Given the description of an element on the screen output the (x, y) to click on. 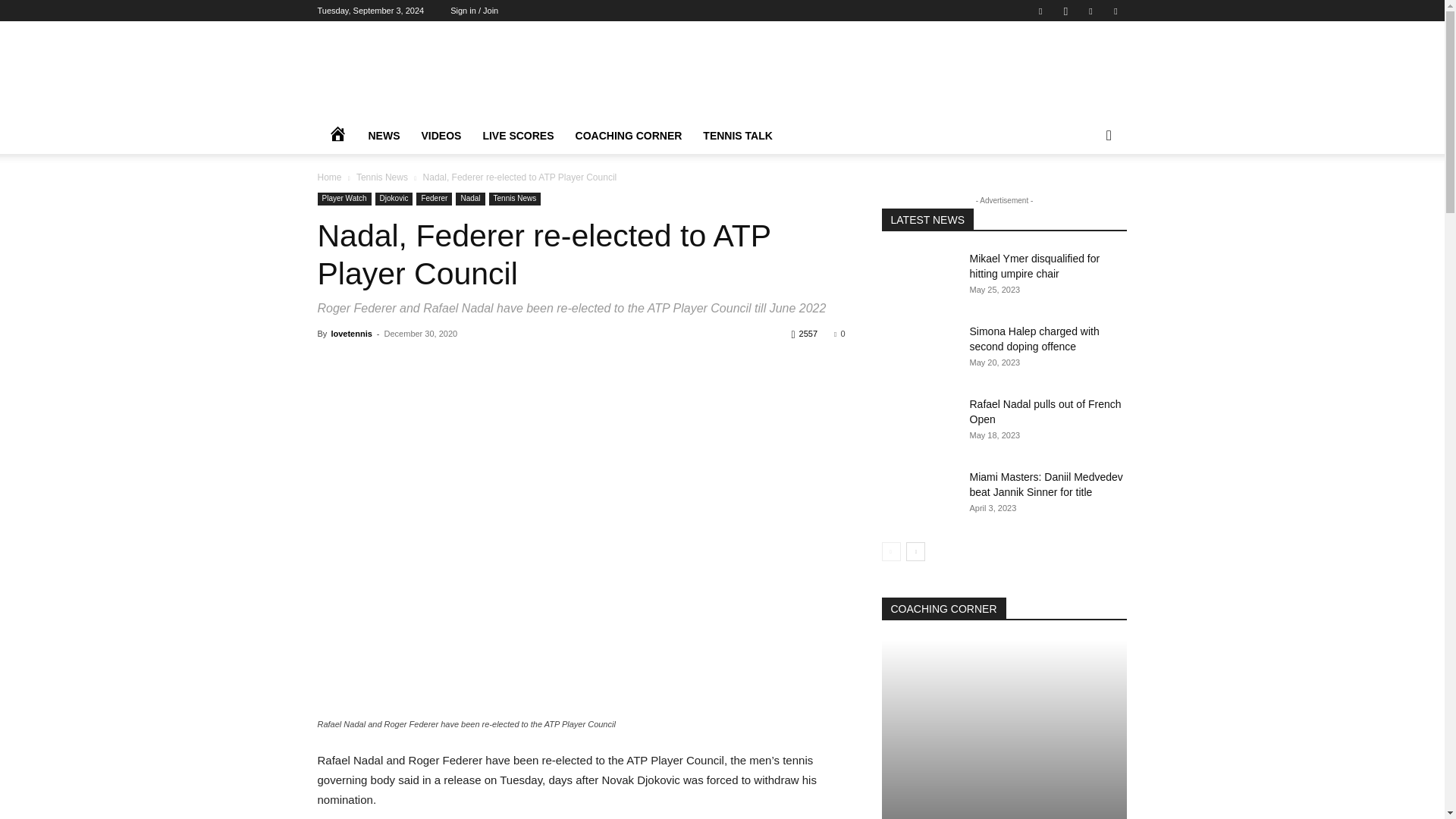
Youtube (1114, 10)
VIDEOS (440, 135)
Instagram (1065, 10)
Facebook (1040, 10)
NEWS (384, 135)
HOME (336, 135)
Twitter (1090, 10)
